Given the description of an element on the screen output the (x, y) to click on. 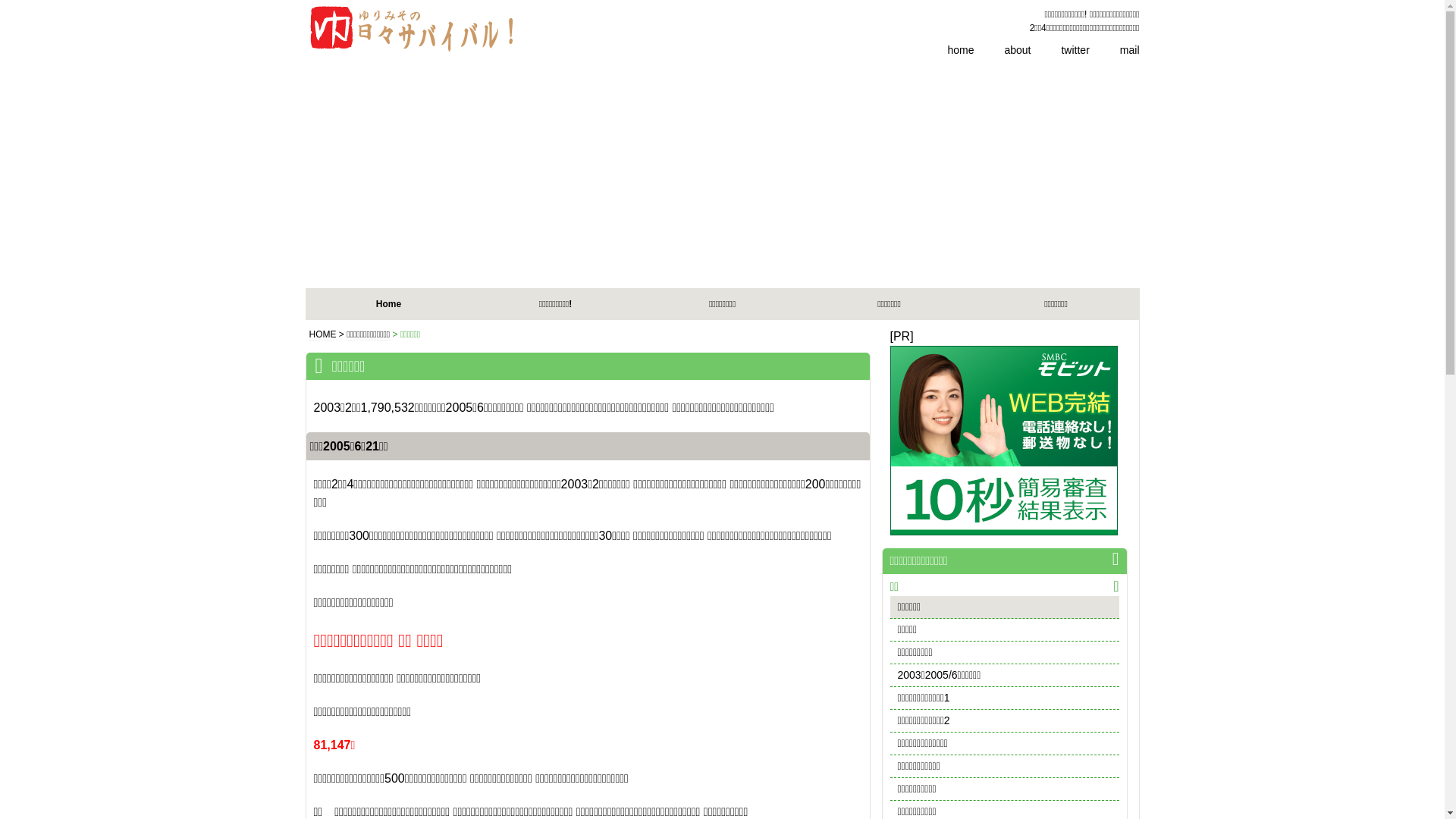
Advertisement Element type: hover (721, 174)
Home Element type: text (387, 304)
HOME Element type: text (322, 334)
home Element type: text (944, 49)
about Element type: text (1001, 49)
twitter Element type: text (1059, 49)
mail Element type: text (1114, 49)
